Given the description of an element on the screen output the (x, y) to click on. 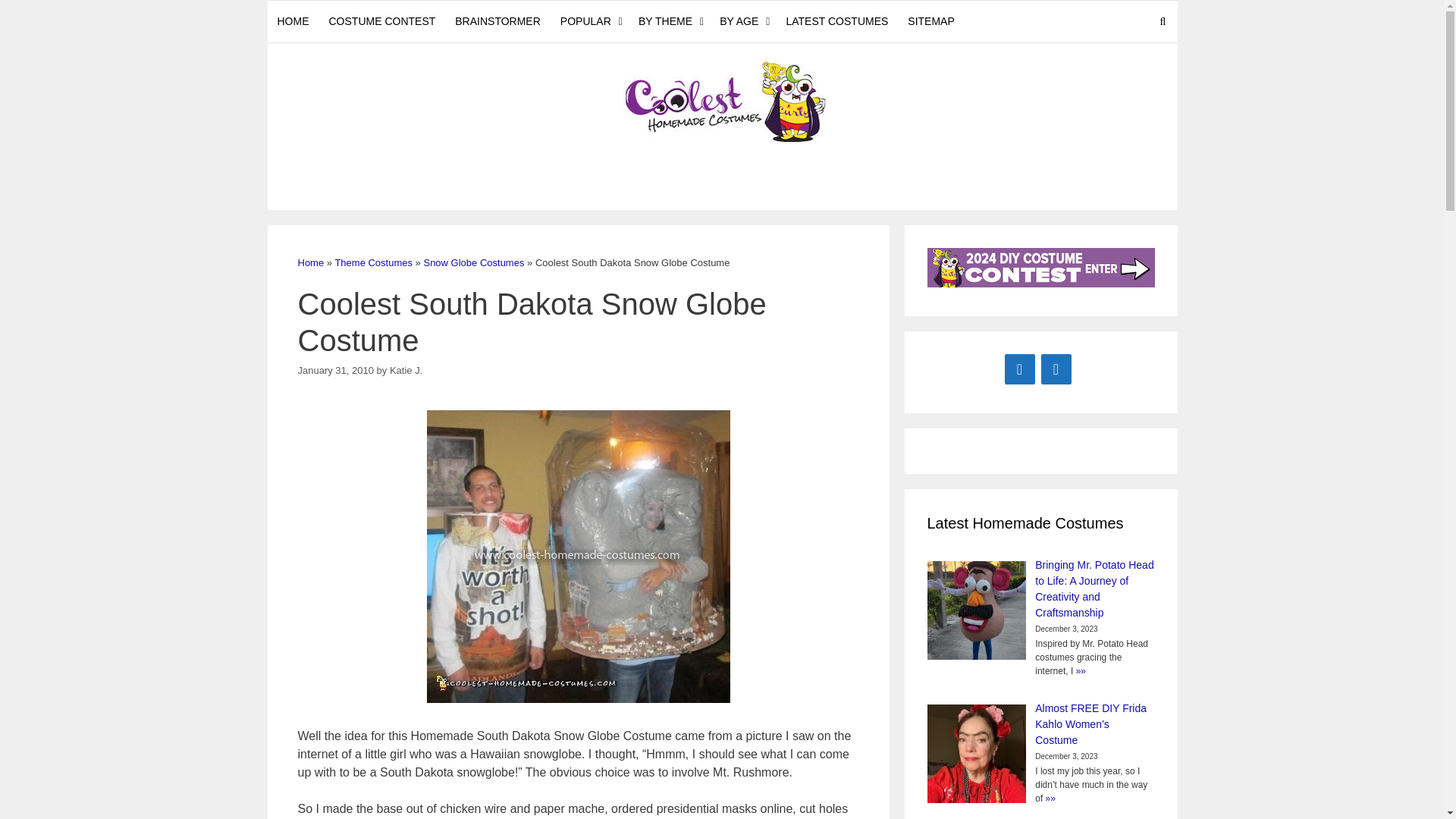
COSTUME CONTEST (381, 21)
SITEMAP (930, 21)
HOME (292, 21)
BY THEME (669, 21)
Instagram (1055, 368)
View all posts by Katie J. (406, 369)
LATEST COSTUMES (837, 21)
BY AGE (743, 21)
BRAINSTORMER (497, 21)
Facebook (1018, 368)
POPULAR (589, 21)
